Given the description of an element on the screen output the (x, y) to click on. 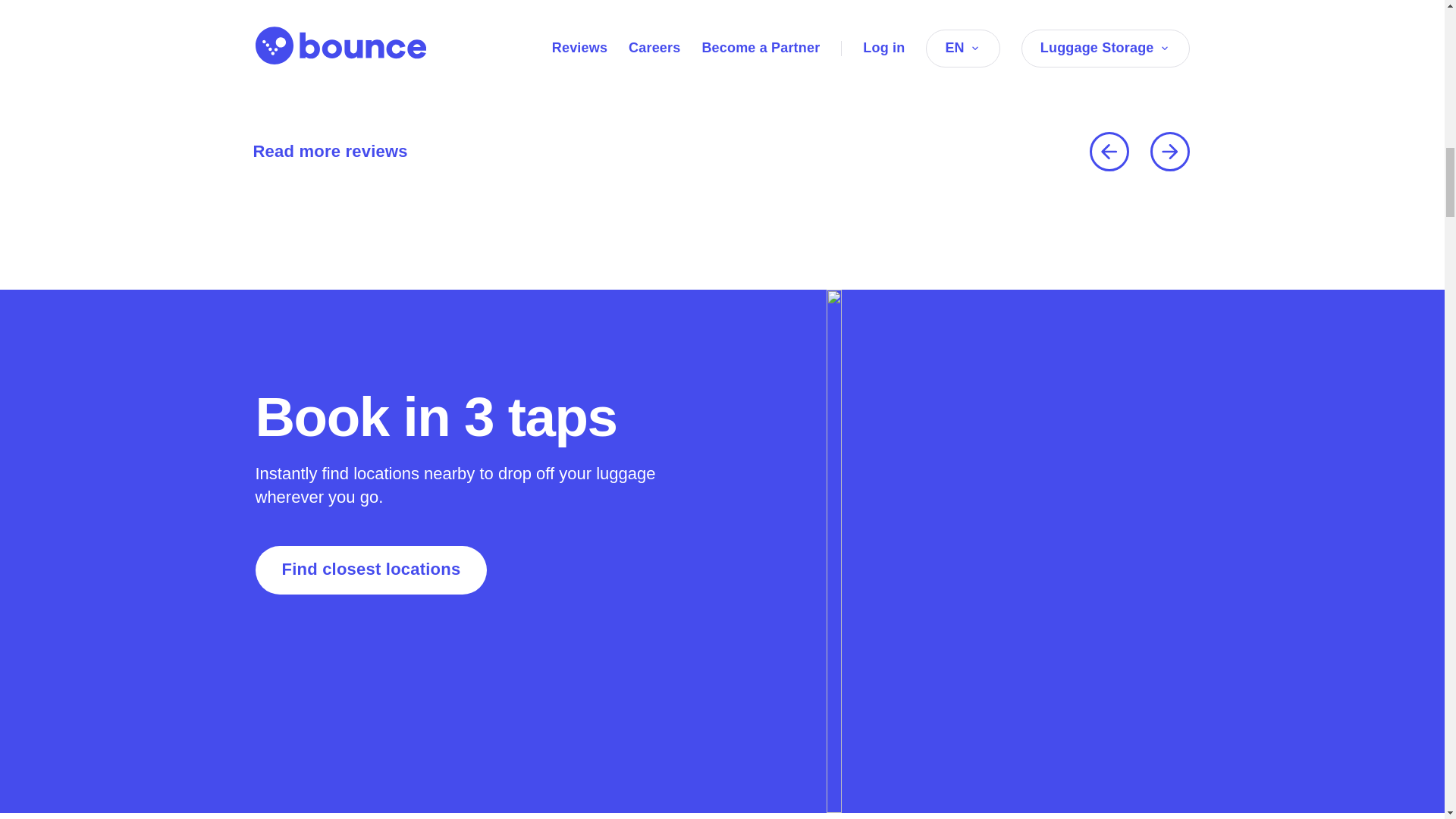
Read more reviews (324, 151)
Find closest locations (370, 570)
